Given the description of an element on the screen output the (x, y) to click on. 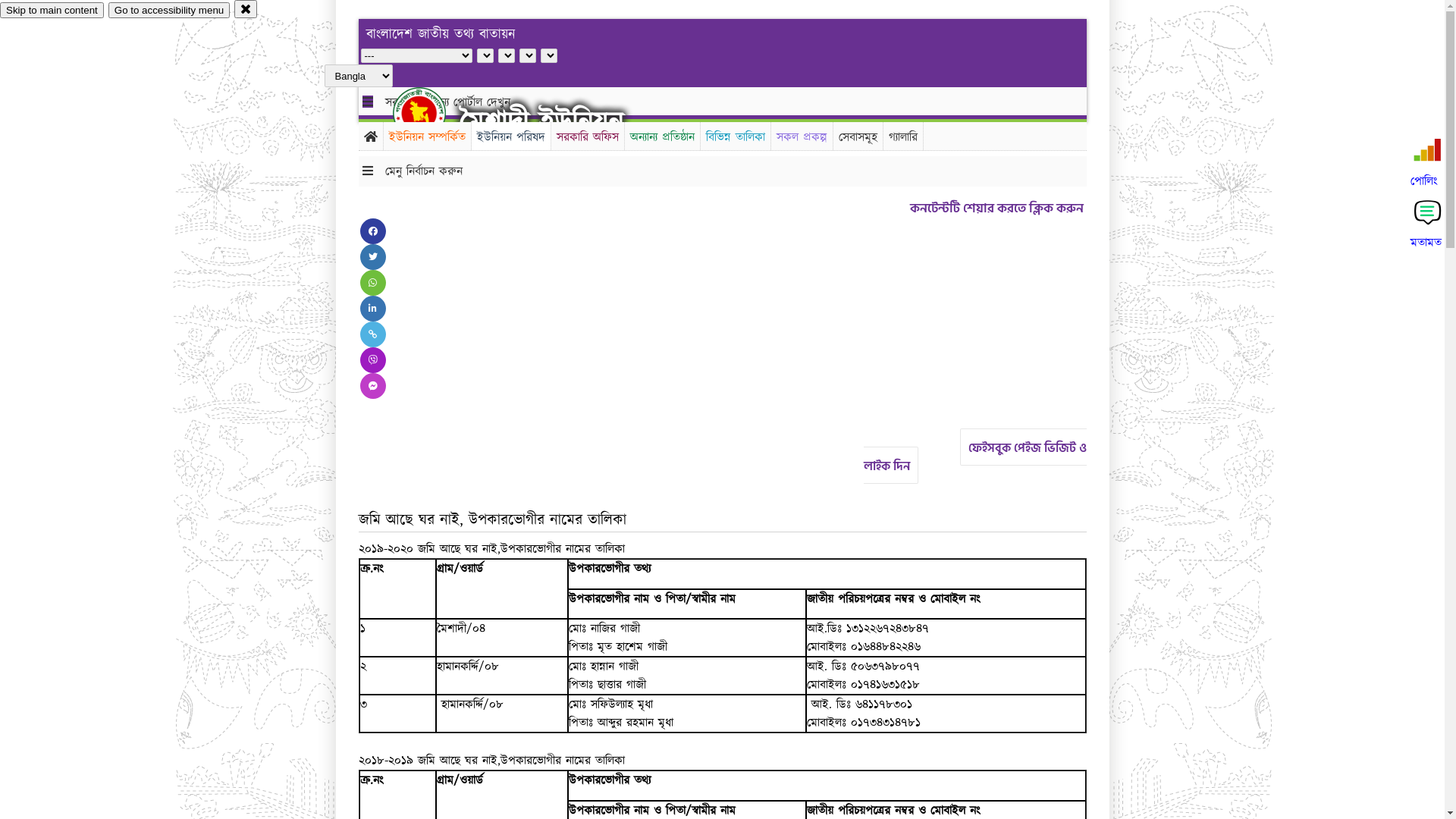
Go to accessibility menu Element type: text (168, 10)

                
             Element type: hover (431, 112)
close Element type: hover (245, 9)
Skip to main content Element type: text (51, 10)
